Given the description of an element on the screen output the (x, y) to click on. 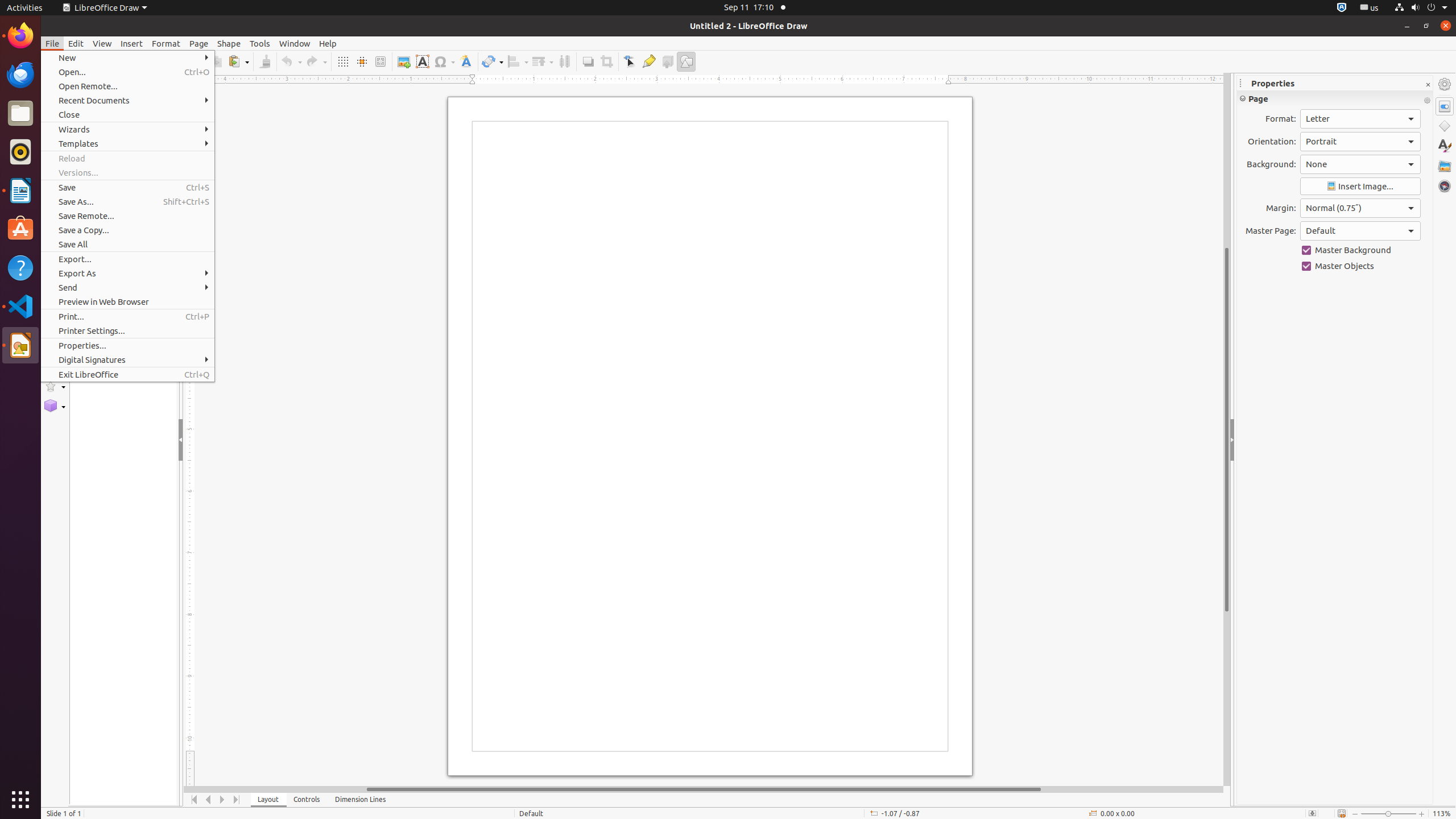
Symbol Shapes Element type: push-button (54, 306)
Fontwork Style Element type: toggle-button (465, 61)
Star Shapes Element type: push-button (54, 386)
Navigator Element type: radio-button (1444, 185)
Templates Element type: menu (127, 143)
